Given the description of an element on the screen output the (x, y) to click on. 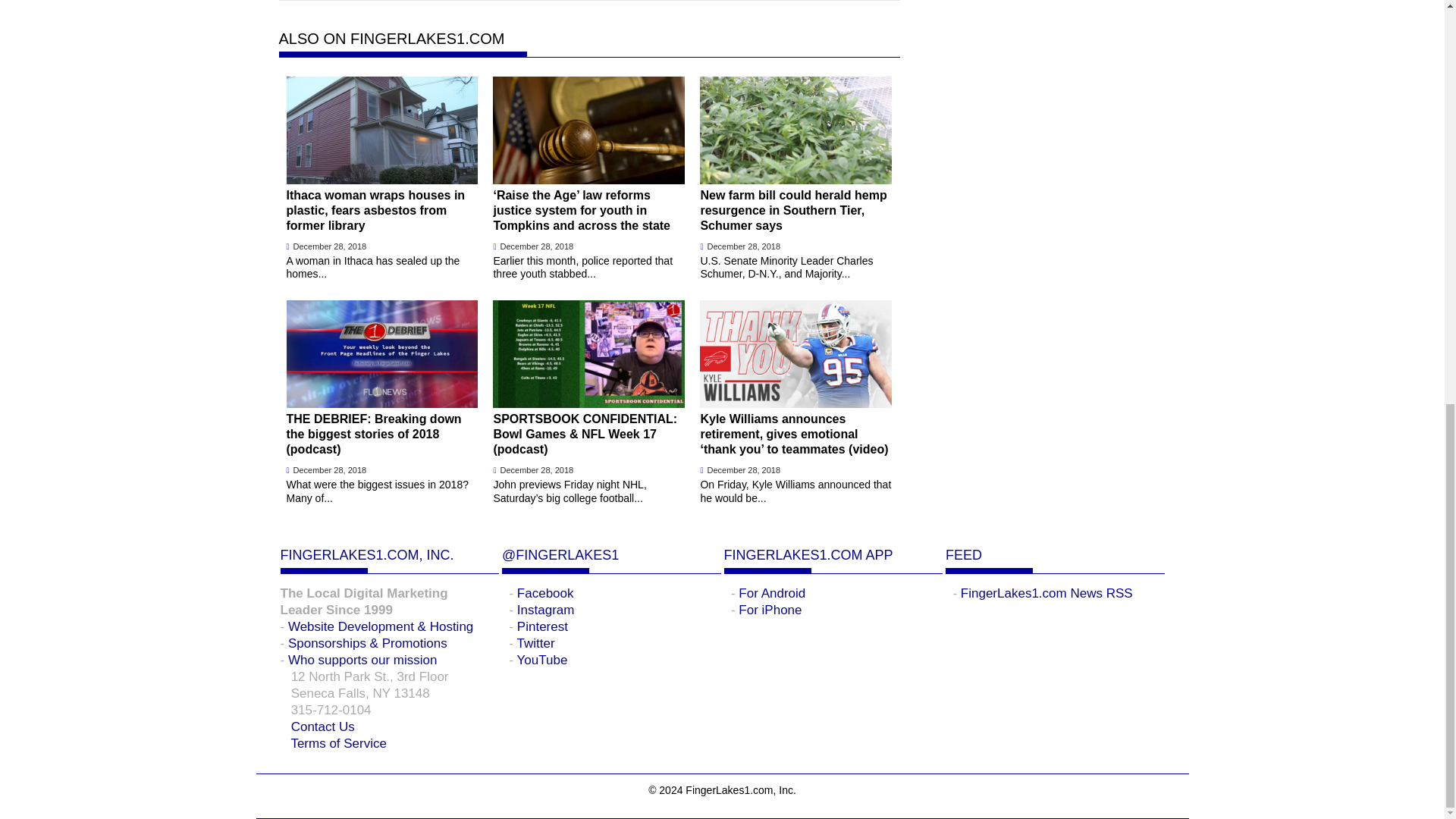
December 28, 2018 (330, 245)
December 28, 2018 (536, 245)
